Given the description of an element on the screen output the (x, y) to click on. 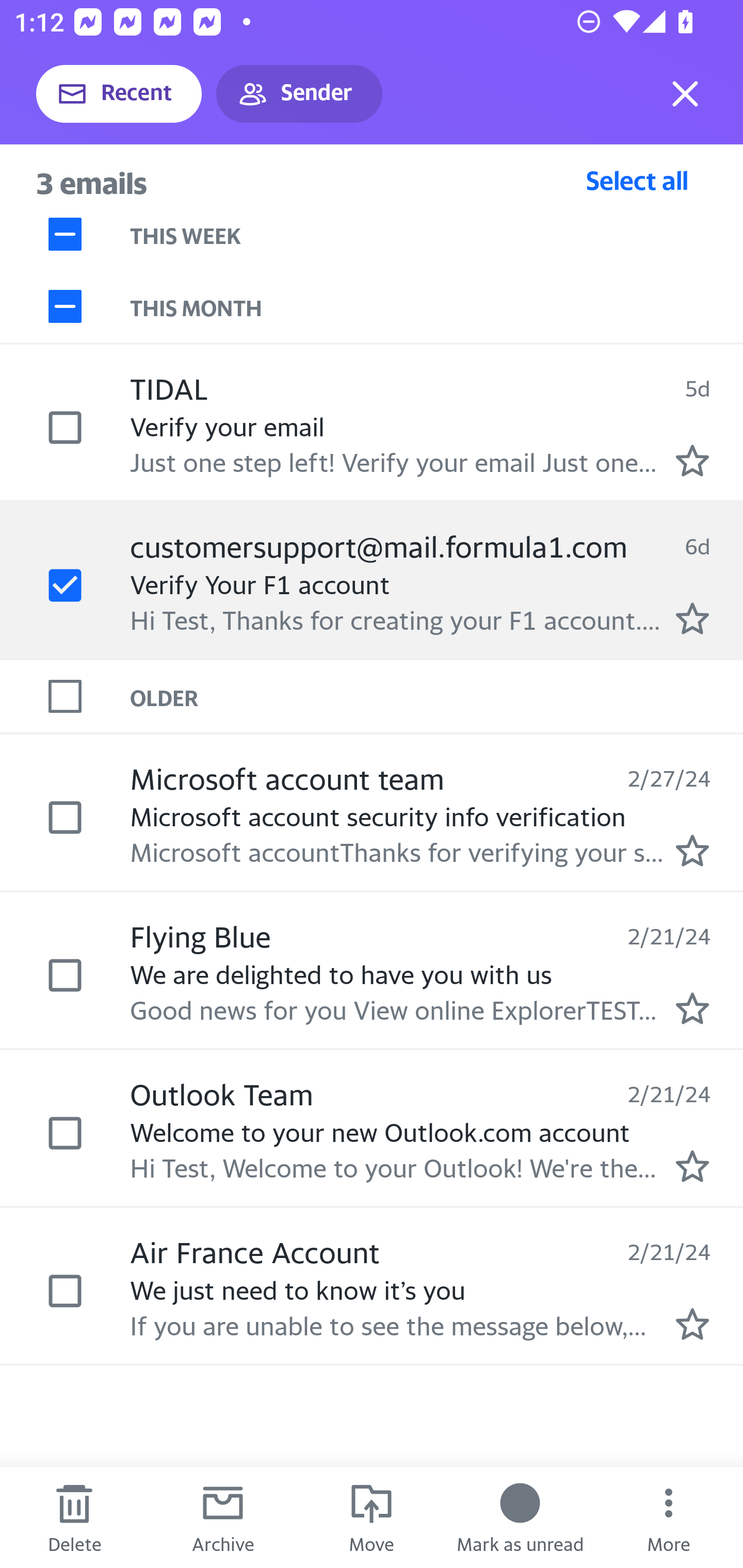
Sender (299, 93)
Exit selection mode (684, 93)
Select all (637, 180)
THIS MONTH (436, 306)
Mark as starred. (692, 460)
Mark as starred. (692, 618)
OLDER (436, 696)
Mark as starred. (692, 850)
Mark as starred. (692, 1008)
Mark as starred. (692, 1165)
Mark as starred. (692, 1324)
Delete (74, 1517)
Archive (222, 1517)
Move (371, 1517)
Mark as unread (519, 1517)
More (668, 1517)
